Given the description of an element on the screen output the (x, y) to click on. 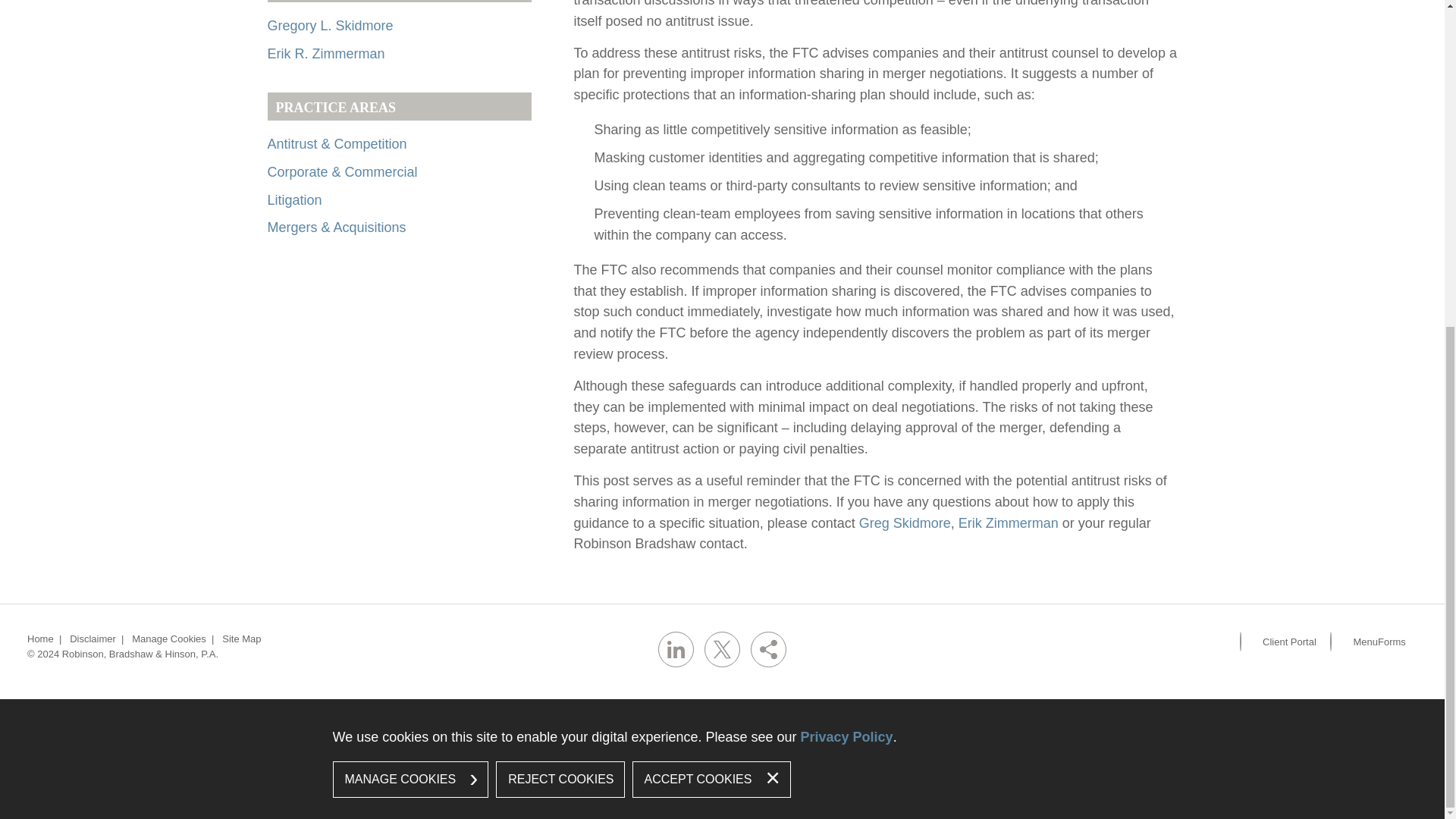
Share (768, 649)
Erik Zimmerman (1008, 522)
Greg Skidmore (904, 522)
LinkedIn (676, 649)
